Given the description of an element on the screen output the (x, y) to click on. 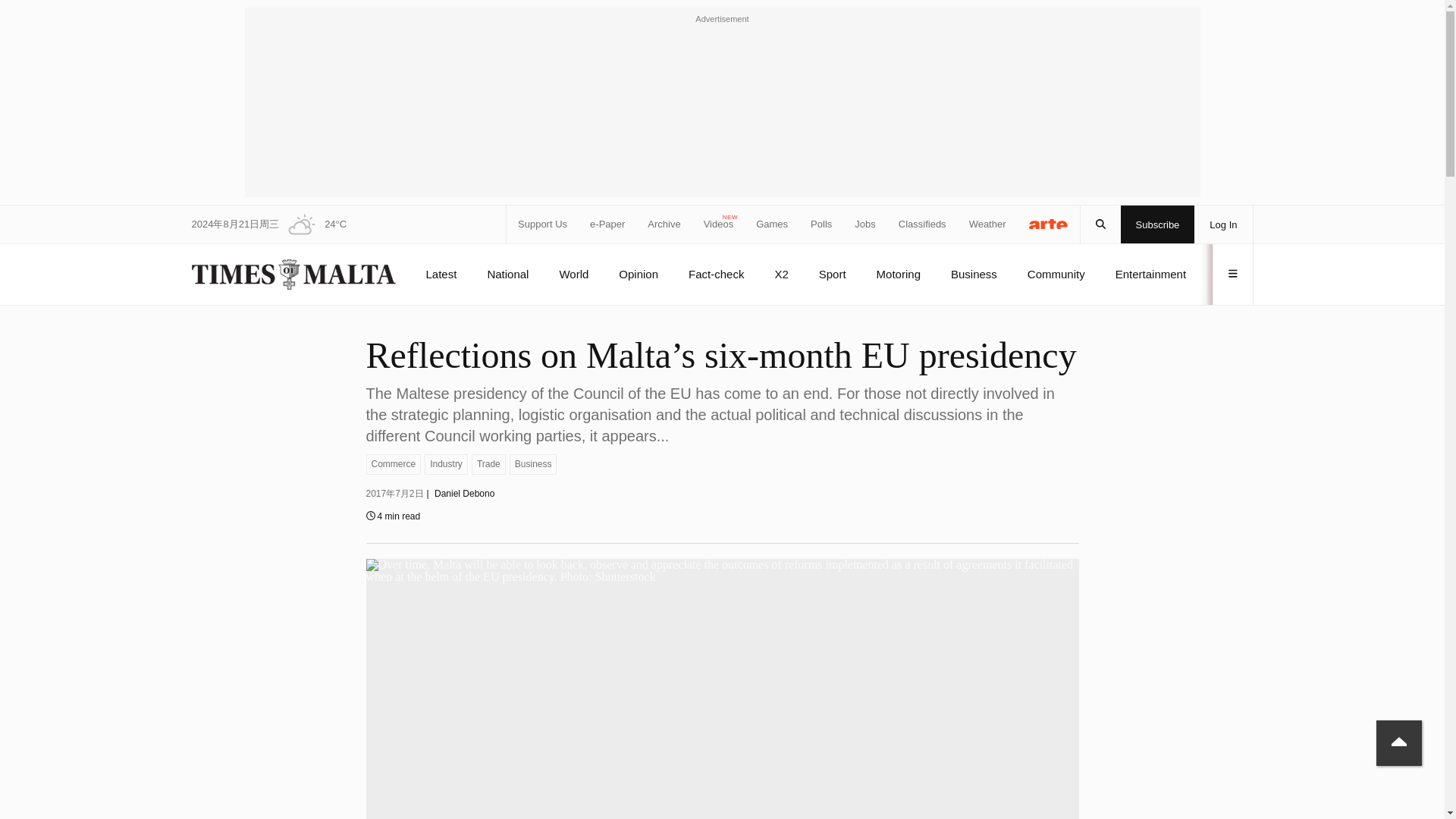
Weather (987, 224)
Support Us (542, 224)
Business (533, 464)
Classifieds (922, 224)
Industry (446, 464)
Additional weather information (312, 224)
Community (1055, 274)
ARTE (1048, 223)
